Given the description of an element on the screen output the (x, y) to click on. 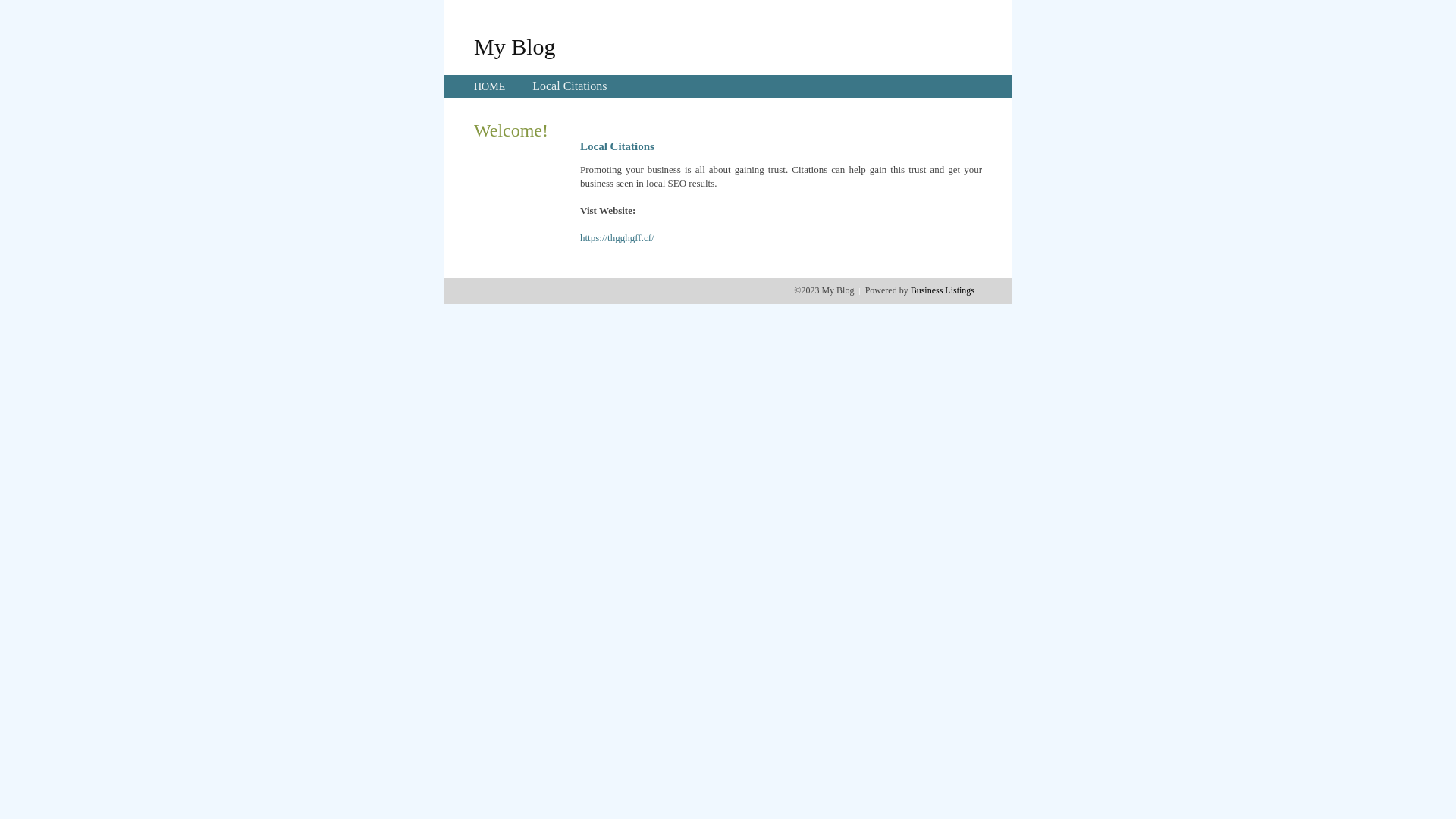
Local Citations Element type: text (569, 85)
https://thgghgff.cf/ Element type: text (617, 237)
My Blog Element type: text (514, 46)
Business Listings Element type: text (942, 290)
HOME Element type: text (489, 86)
